Given the description of an element on the screen output the (x, y) to click on. 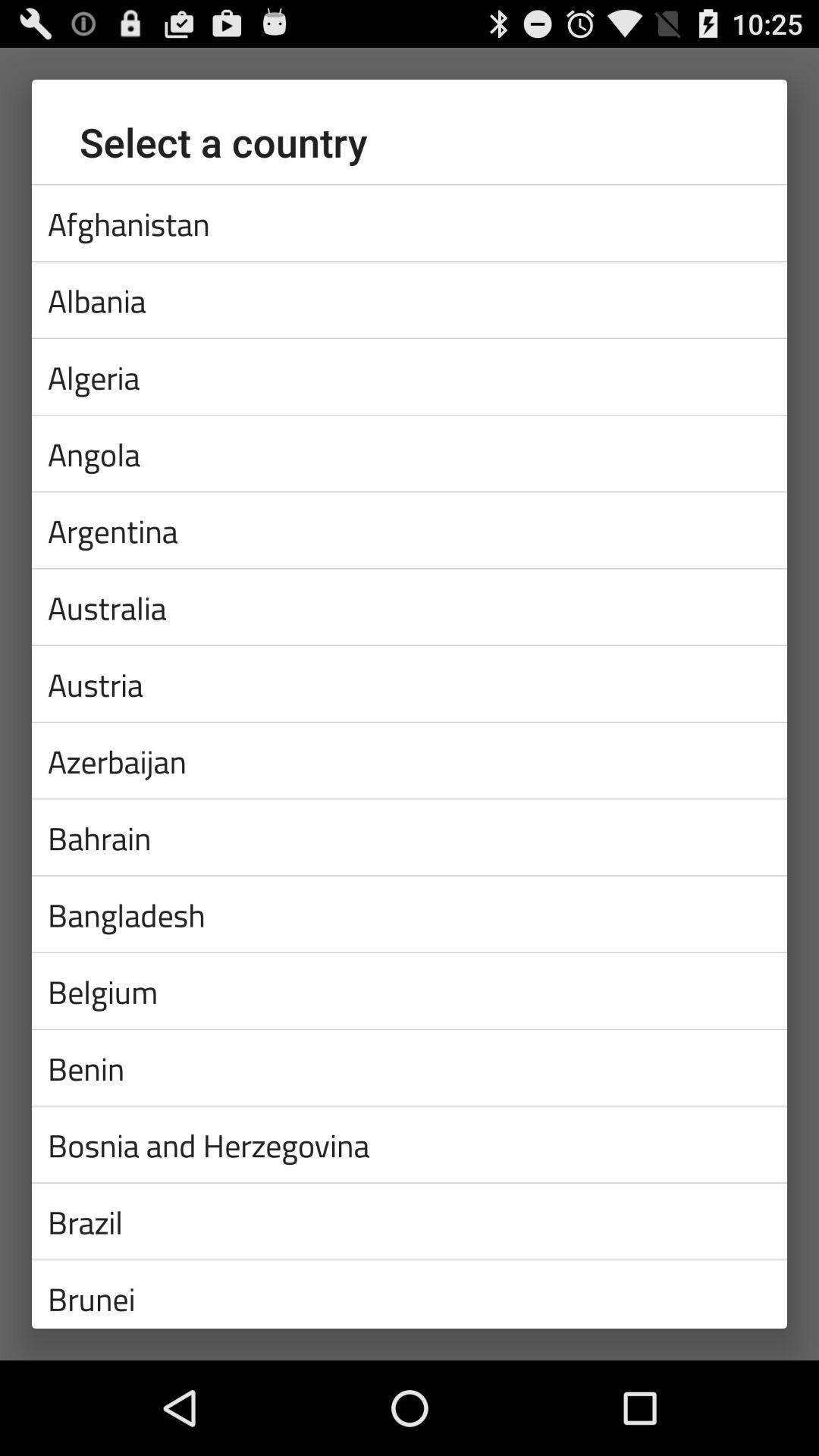
flip until brunei app (409, 1294)
